Given the description of an element on the screen output the (x, y) to click on. 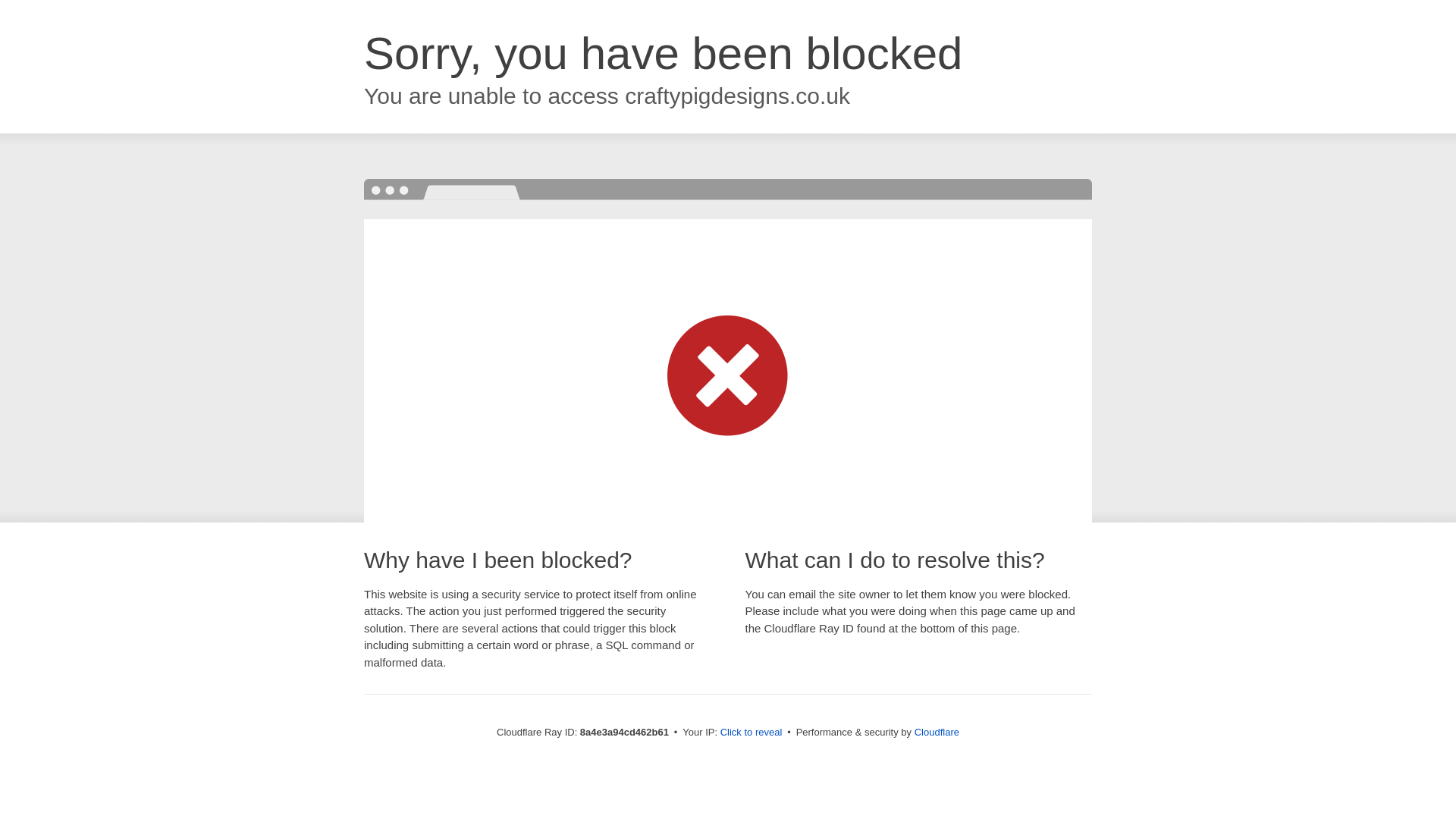
Click to reveal (751, 732)
Cloudflare (936, 731)
